Given the description of an element on the screen output the (x, y) to click on. 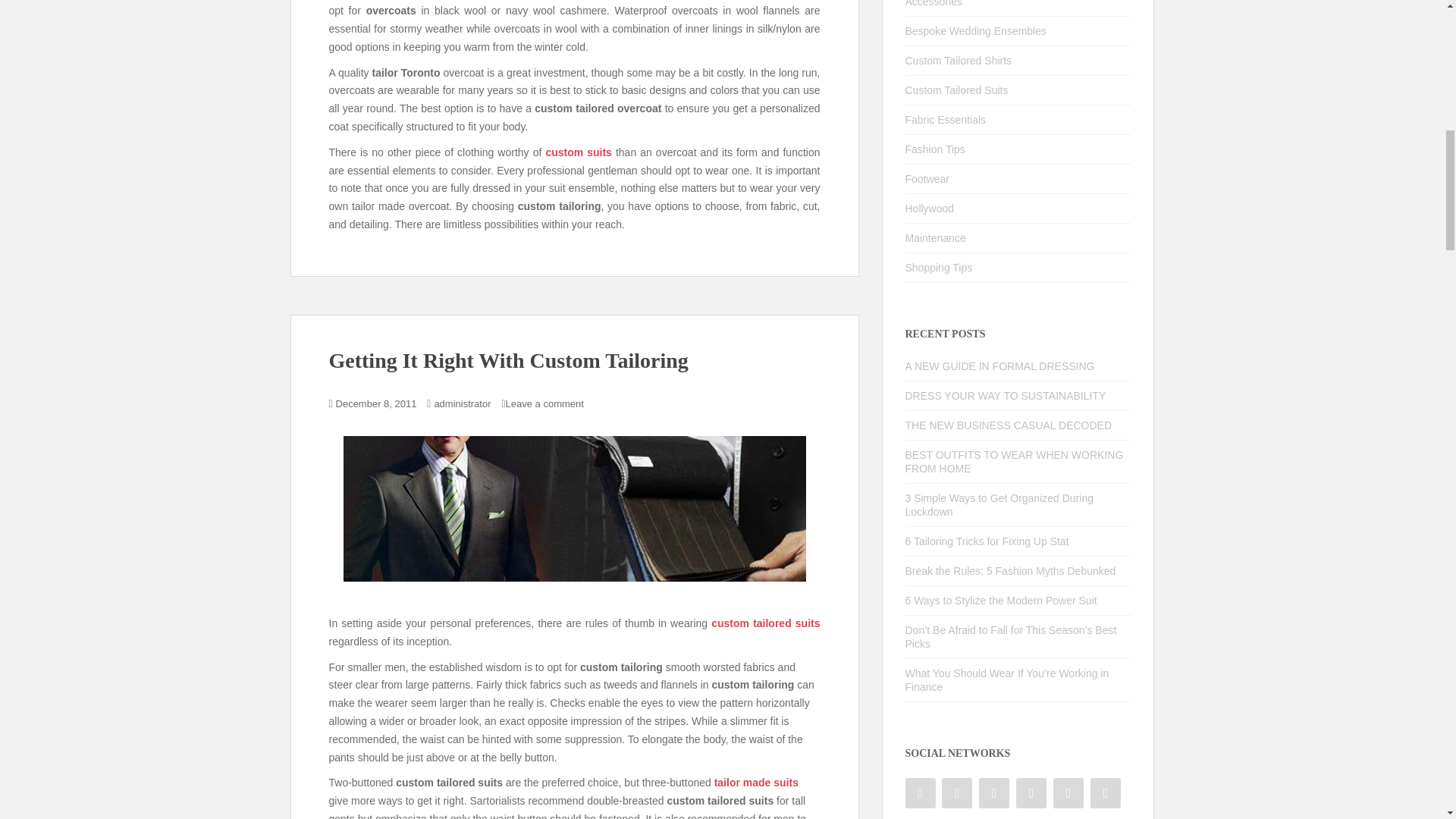
custom suits (577, 152)
Getting It Right With Custom Tailoring (573, 508)
December 8, 2011 (376, 403)
tailor made suits (755, 782)
custom tailored suits (765, 623)
Leave a comment (544, 403)
Tailor Made Suits (755, 782)
Custom Suits (577, 152)
Custom Tailored Suits (765, 623)
Getting It Right With Custom Tailoring (508, 360)
administrator (461, 403)
